Given the description of an element on the screen output the (x, y) to click on. 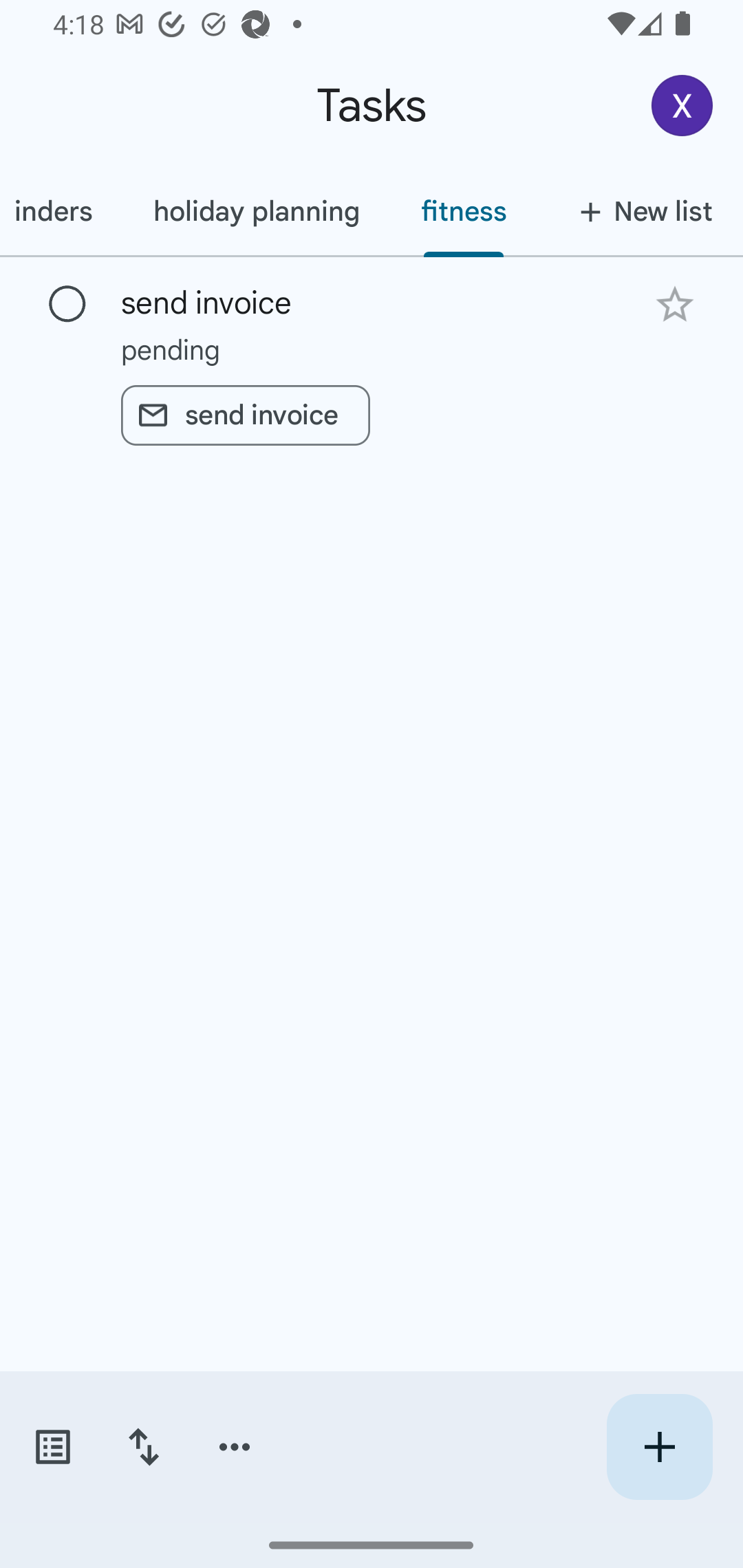
reminders (61, 211)
holiday planning (256, 211)
New list (640, 211)
Add star (674, 303)
Mark as complete (67, 304)
pending (371, 349)
send invoice Related link (245, 415)
Switch task lists (52, 1447)
Create new task (659, 1446)
Change sort order (143, 1446)
More options (234, 1446)
